Given the description of an element on the screen output the (x, y) to click on. 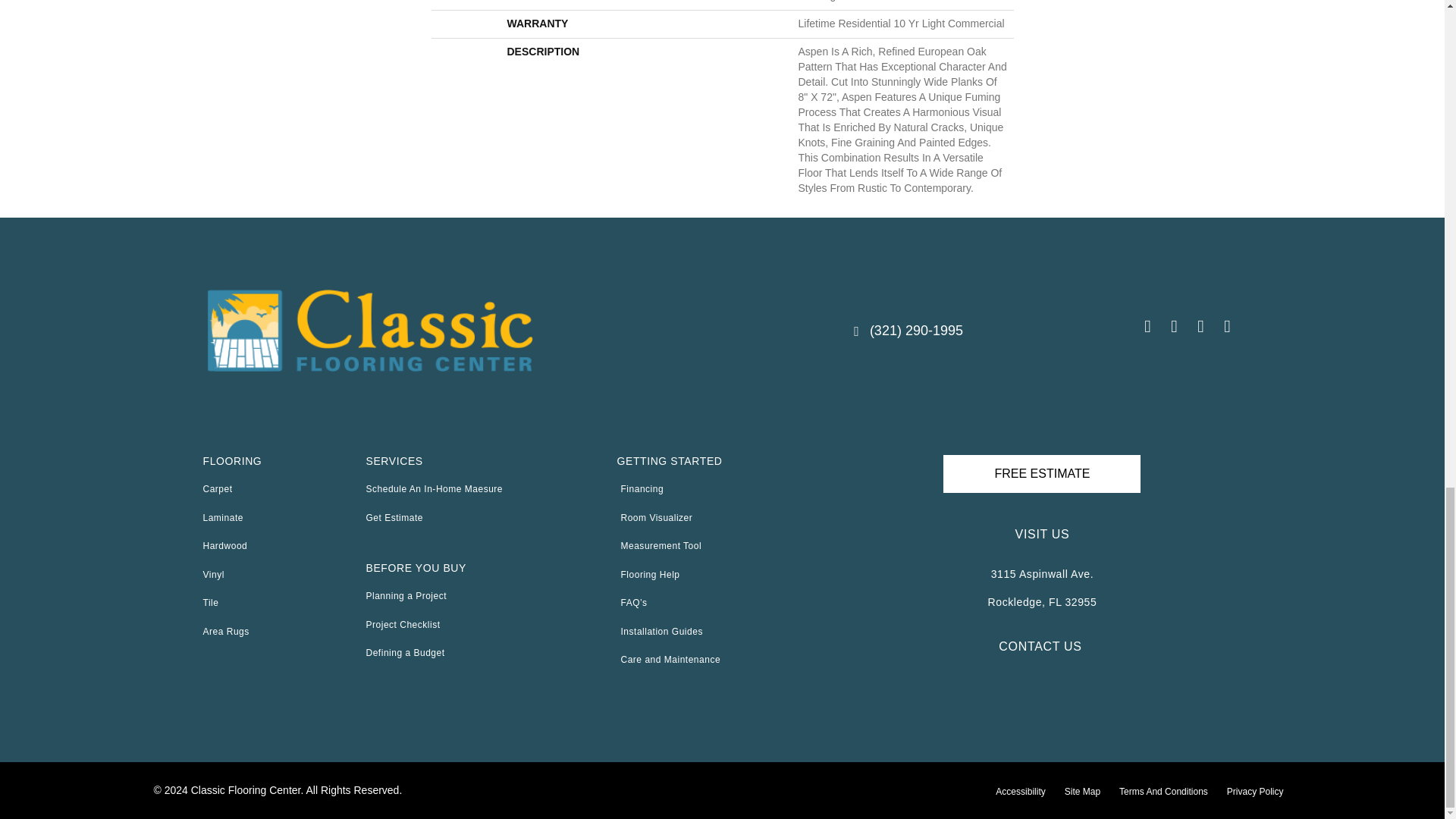
ClassicFlooring-Logo-385x97 (369, 330)
facebook (1147, 328)
googleBusiness (1227, 328)
pinterest (1200, 328)
instagram (1173, 328)
